Given the description of an element on the screen output the (x, y) to click on. 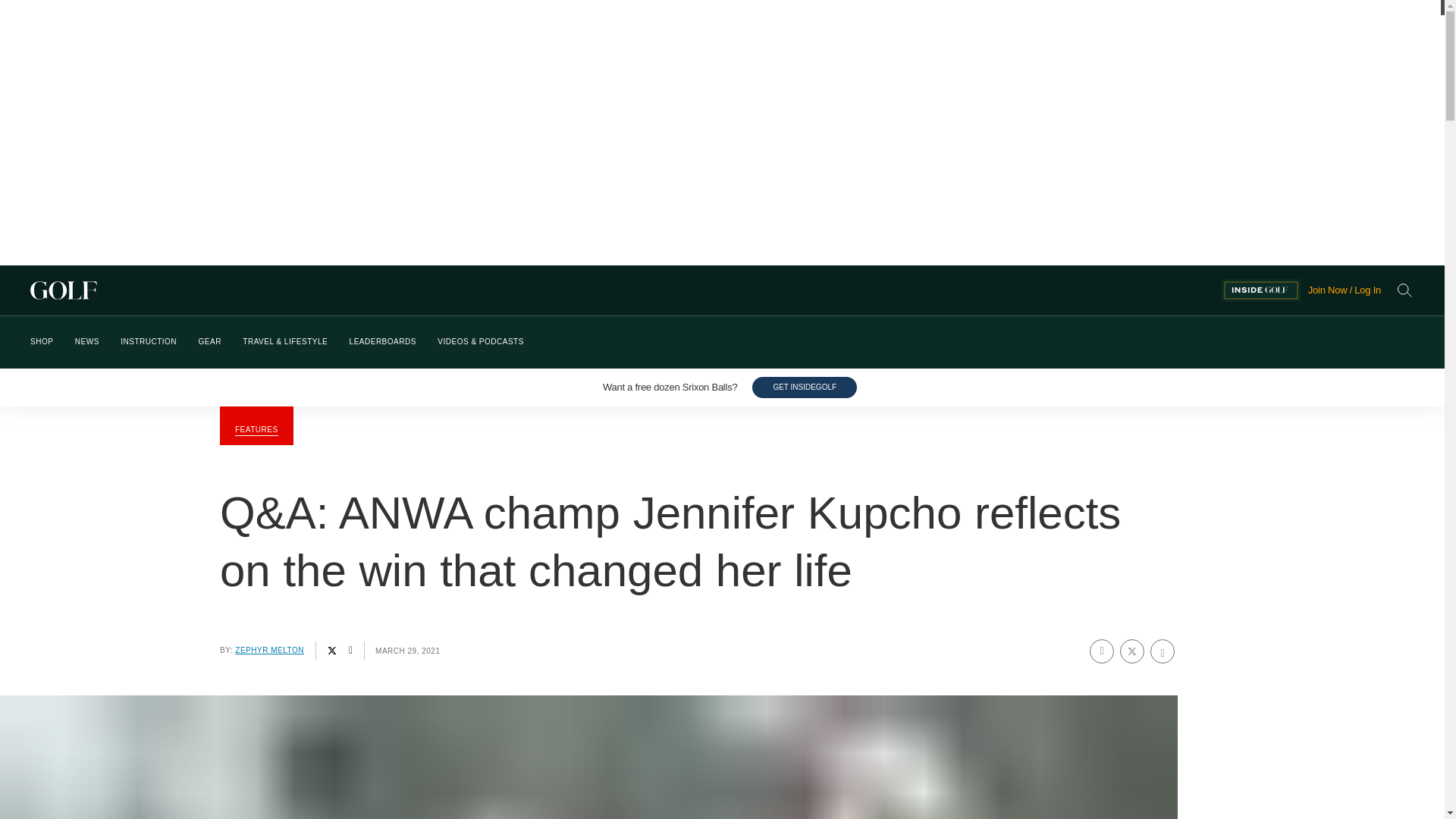
INSTRUCTION (148, 341)
Golf logo. Back to home. (625, 290)
Golf Logo (625, 290)
NEWS (87, 341)
SHOP (41, 341)
